Given the description of an element on the screen output the (x, y) to click on. 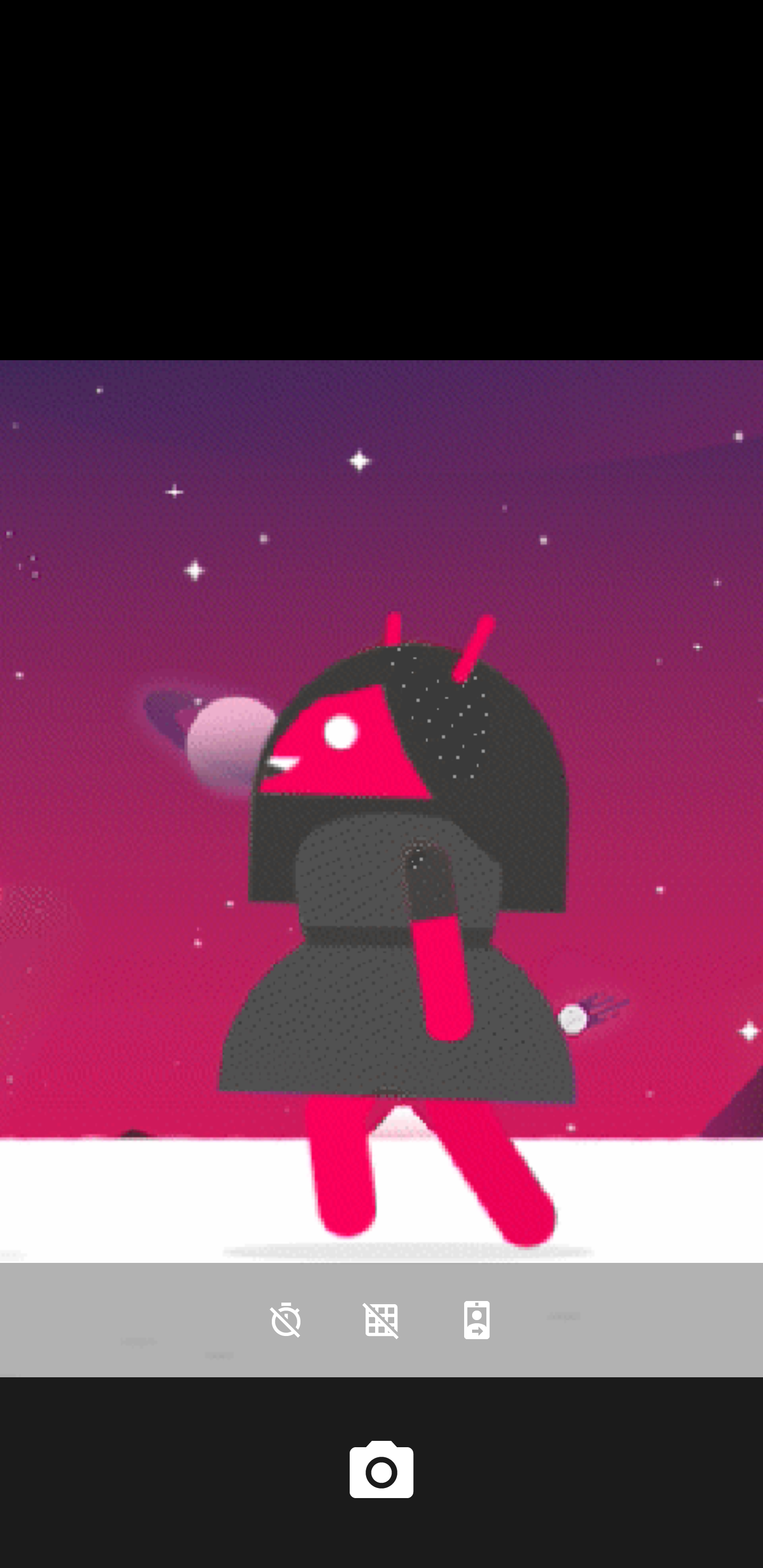
Countdown timer is off (285, 1319)
Grid lines off (381, 1319)
Front camera (476, 1319)
Shutter (381, 1472)
